Given the description of an element on the screen output the (x, y) to click on. 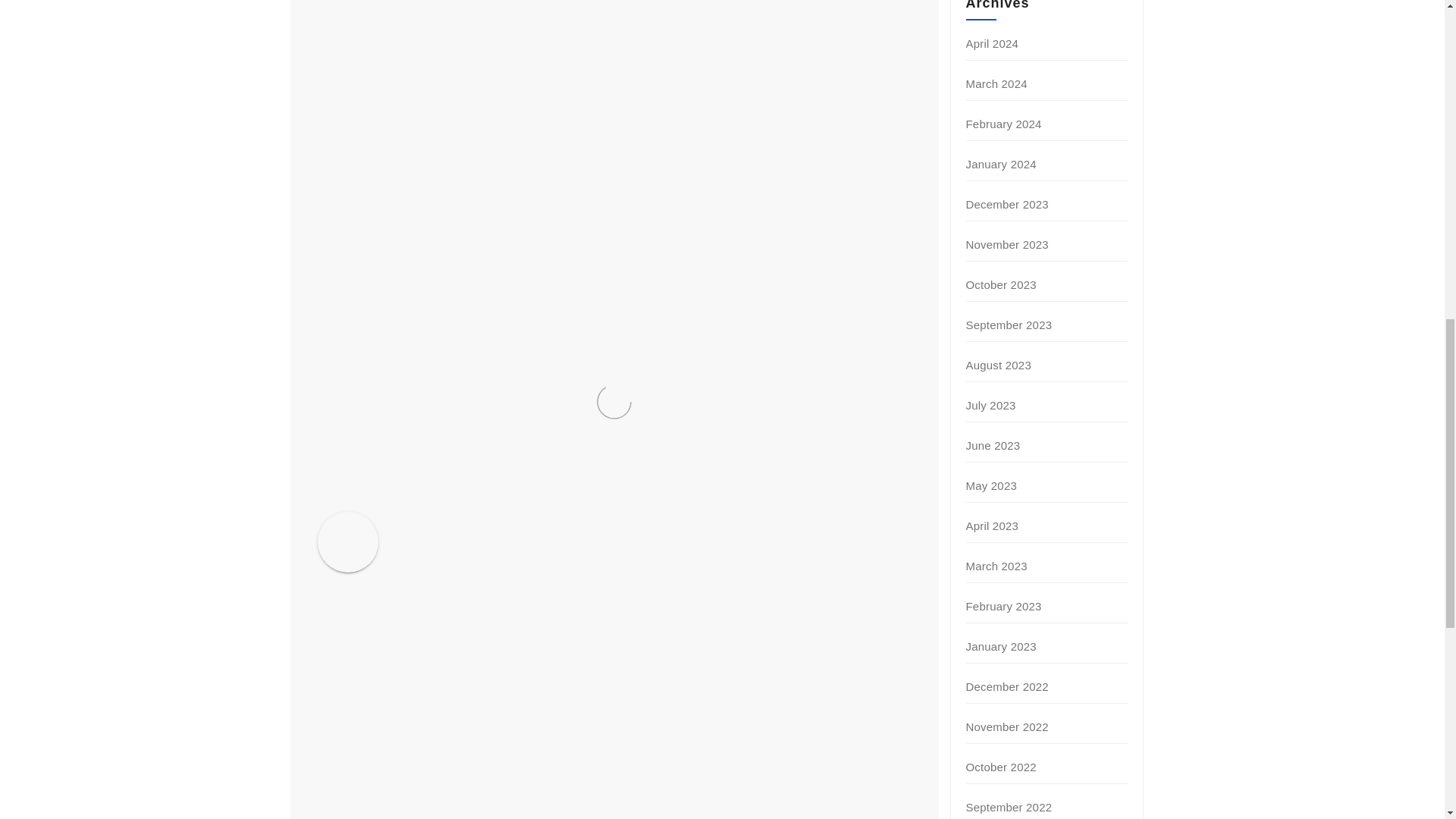
July 2023 (991, 404)
January 2023 (1001, 645)
September 2022 (1009, 807)
November 2022 (1007, 726)
November 2023 (1007, 244)
December 2023 (1007, 204)
October 2022 (1001, 766)
May 2023 (991, 485)
December 2022 (1007, 686)
April 2024 (992, 42)
